Given the description of an element on the screen output the (x, y) to click on. 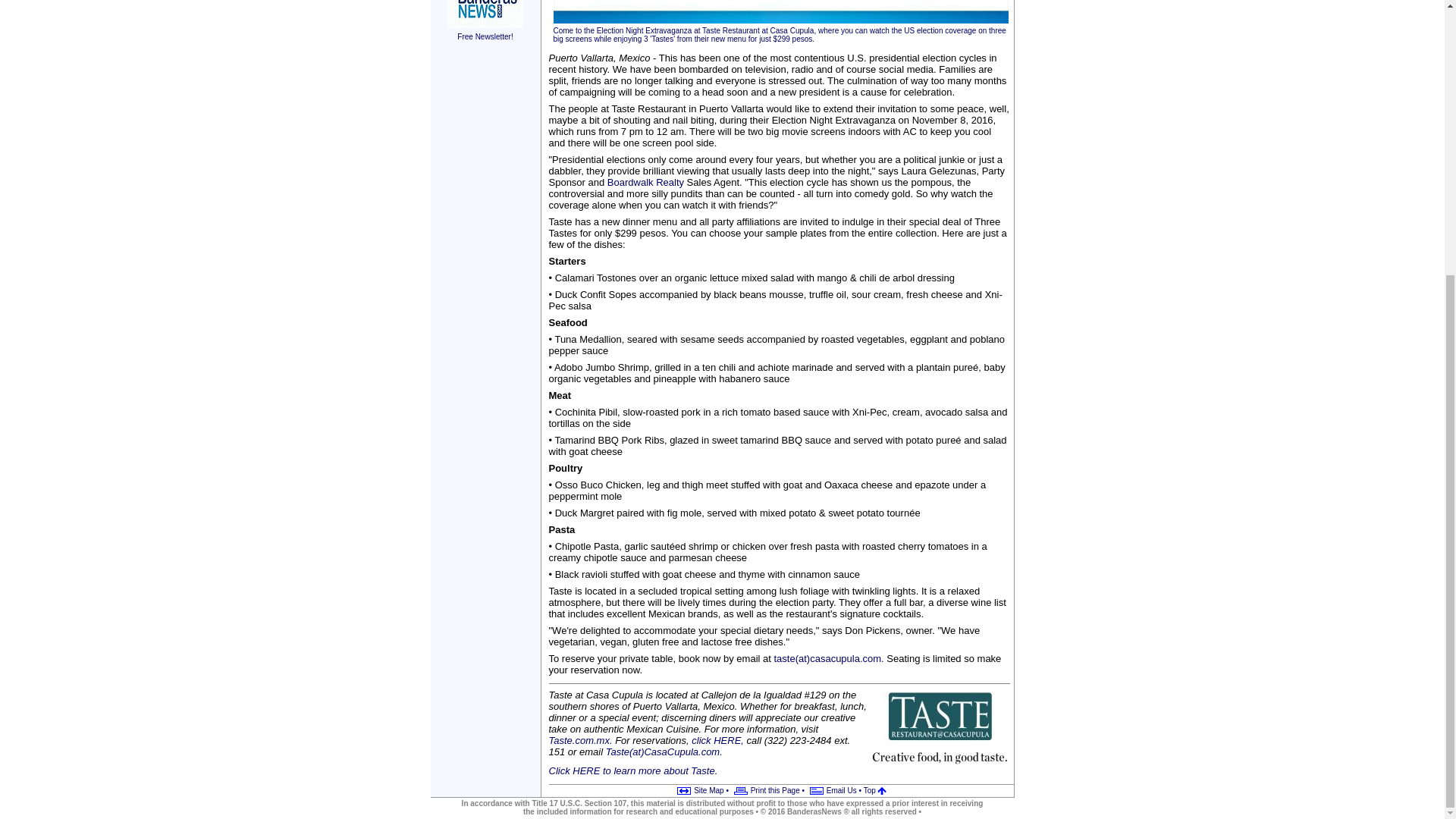
click HERE, (717, 740)
Boardwalk Realty (645, 182)
Taste.com.mx. (580, 740)
Free Newsletter! (484, 30)
Print this Page (764, 790)
Site Map (698, 790)
Click HERE to learn more about Taste. (632, 770)
